Given the description of an element on the screen output the (x, y) to click on. 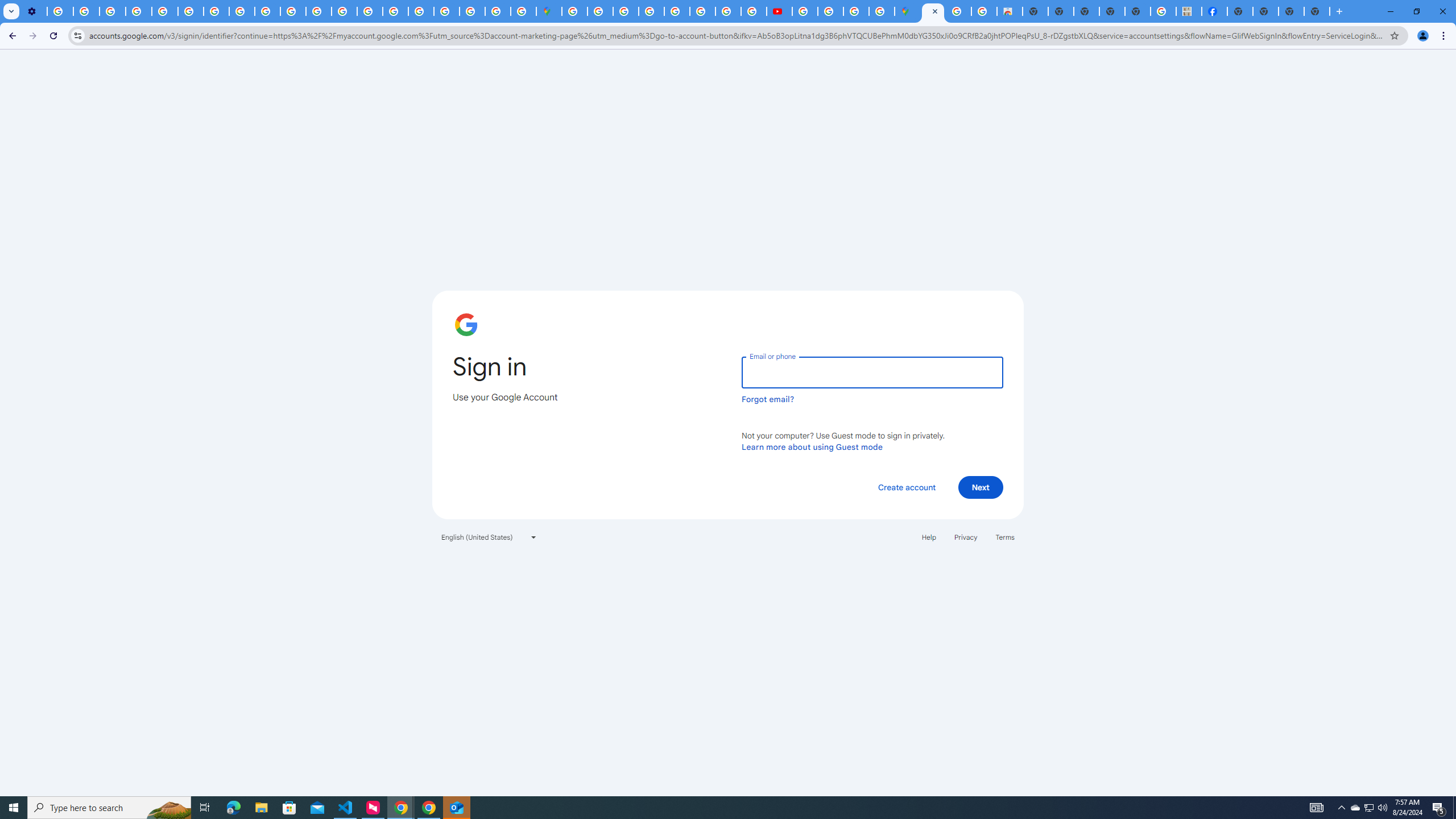
Sign in - Google Accounts (446, 11)
English (United States) (489, 536)
Google Maps (548, 11)
Restore (1416, 11)
Learn how to find your photos - Google Photos Help (86, 11)
Delete photos & videos - Computer - Google Photos Help (60, 11)
Privacy Help Center - Policies Help (165, 11)
Learn more about using Guest mode (812, 446)
Sign in - Google Accounts (932, 11)
Sign in - Google Accounts (574, 11)
